Given the description of an element on the screen output the (x, y) to click on. 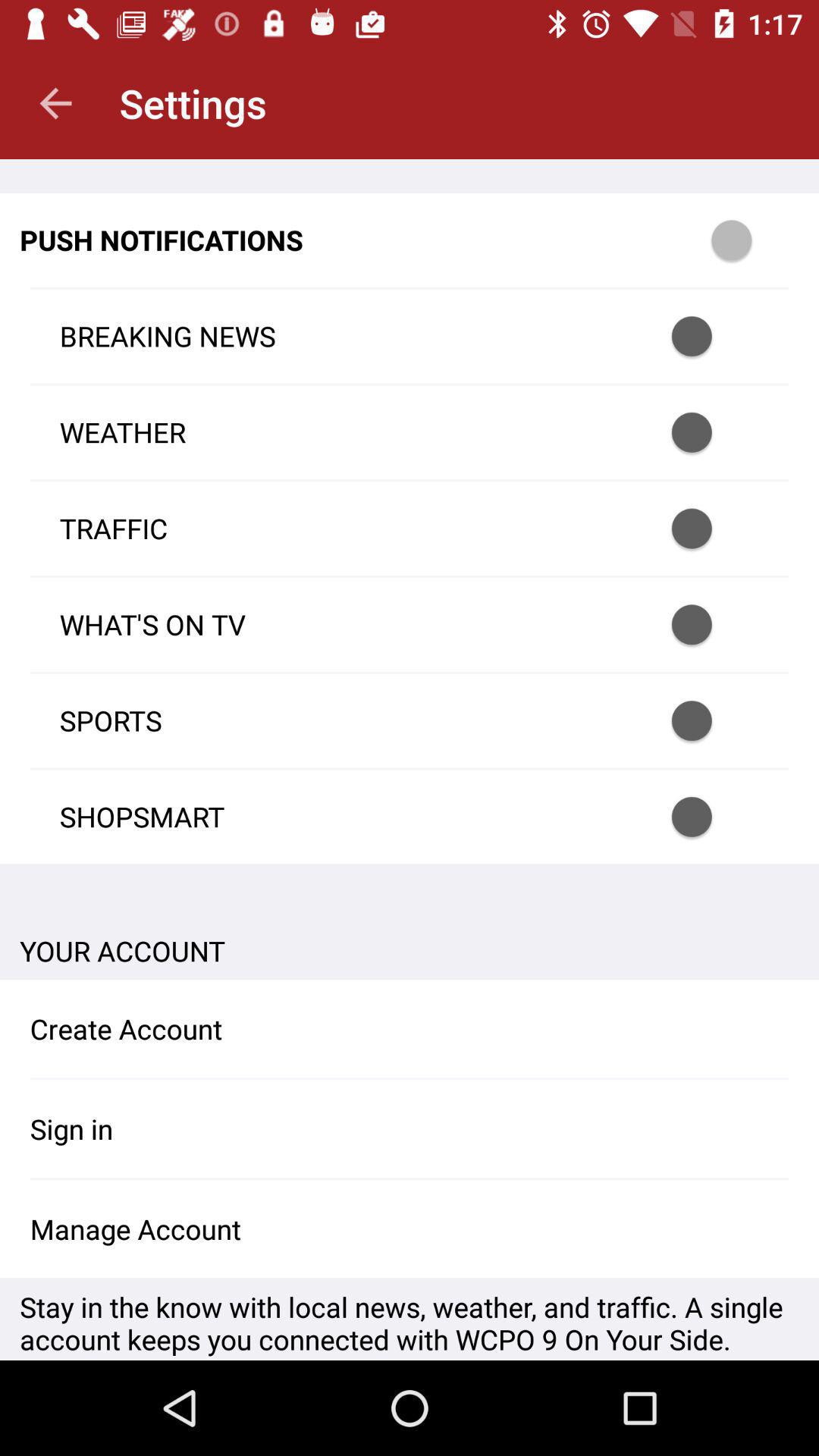
turn on icon above push notifications icon (55, 103)
